Given the description of an element on the screen output the (x, y) to click on. 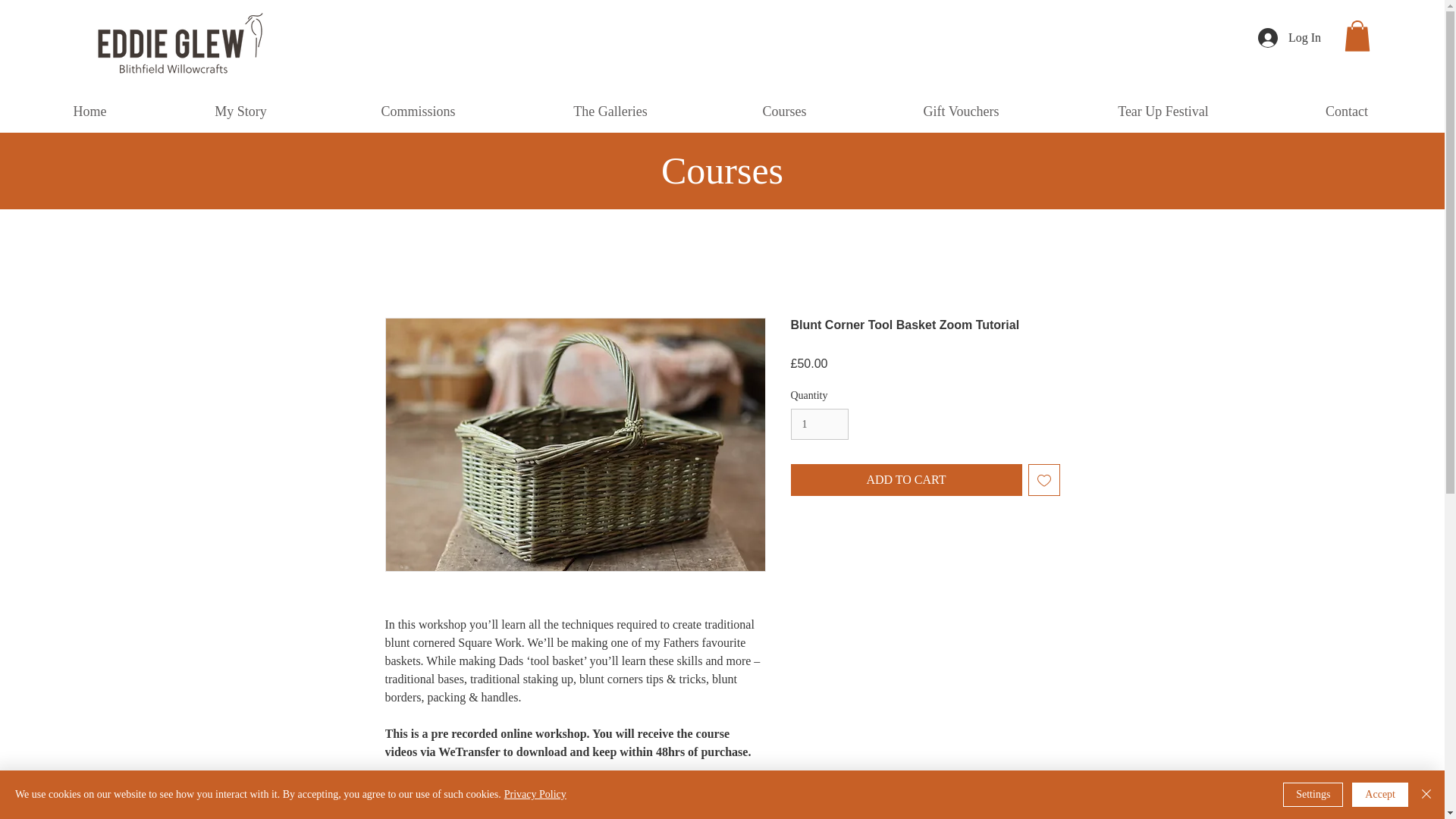
Home (89, 111)
Accept (1379, 794)
Courses (783, 111)
1 (818, 423)
Settings (1312, 794)
Contact (1346, 111)
Gift Vouchers (960, 111)
Privacy Policy (534, 794)
My Story (240, 111)
ADD TO CART (906, 480)
